Given the description of an element on the screen output the (x, y) to click on. 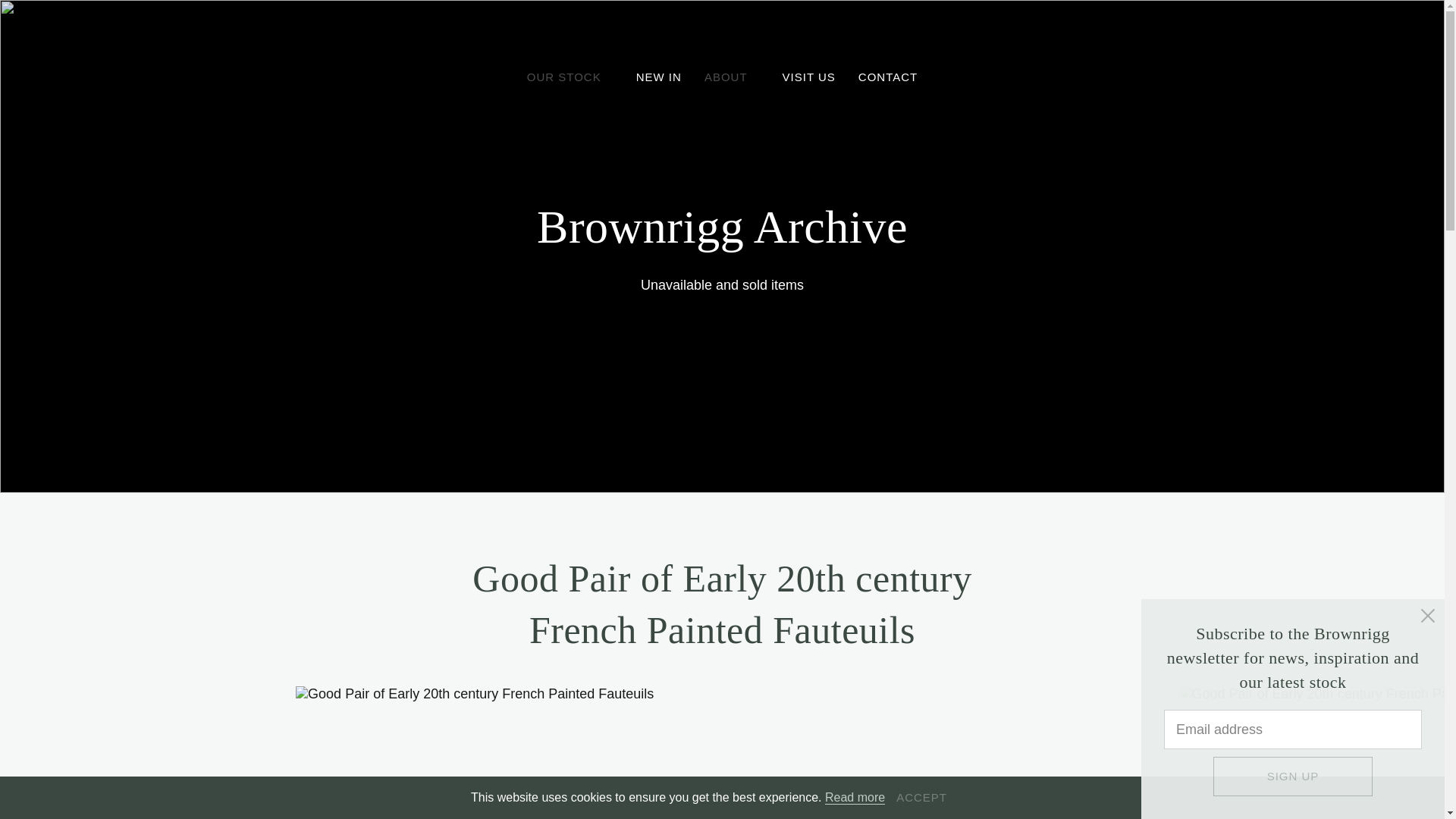
CONTACT (888, 77)
OUR STOCK (569, 77)
NEW IN (658, 77)
VISIT US (809, 77)
Brownrigg Interiors (720, 37)
ABOUT (732, 77)
